Given the description of an element on the screen output the (x, y) to click on. 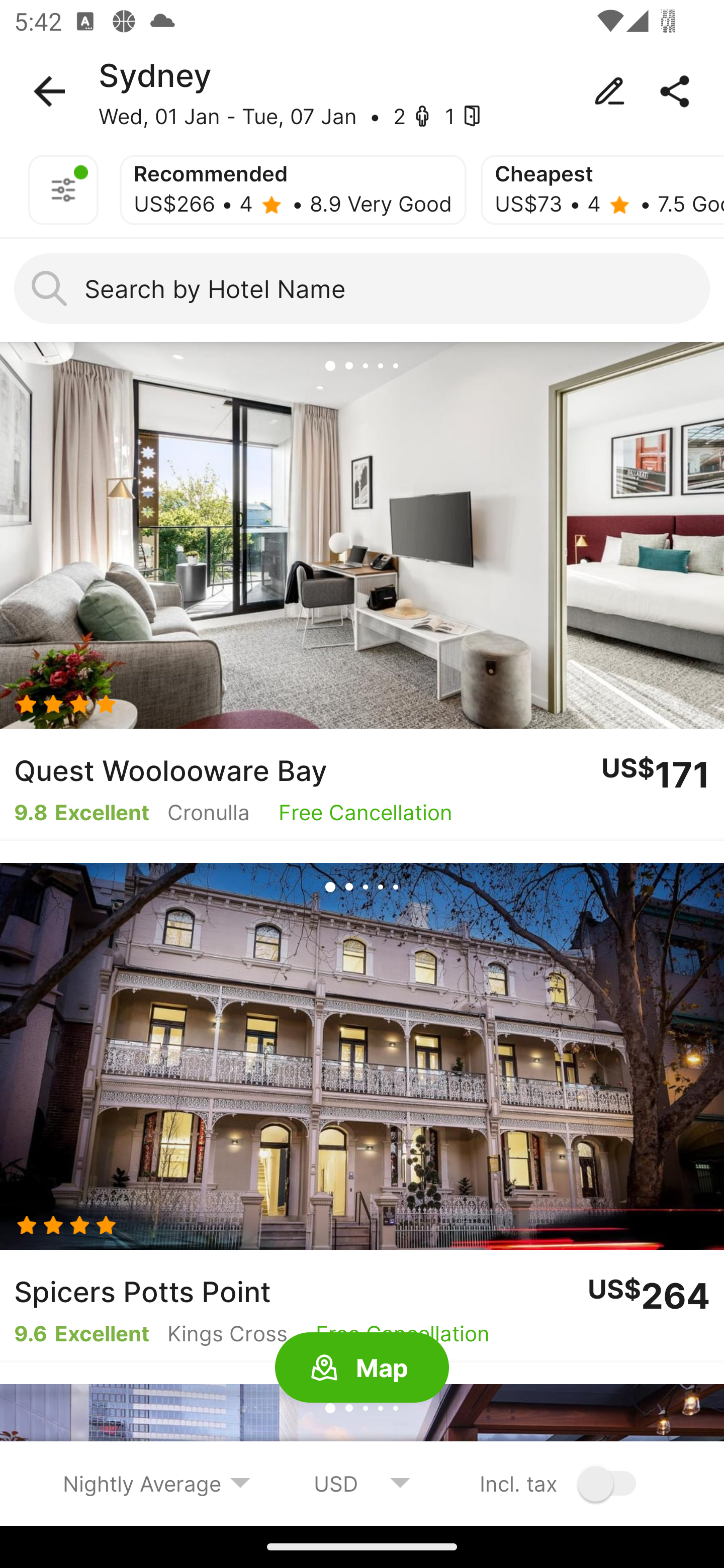
Sydney Wed, 01 Jan - Tue, 07 Jan  •  2 -  1 - (361, 91)
Recommended  US$266  • 4 - • 8.9 Very Good (292, 190)
Cheapest US$73  • 4 - • 7.5 Good (602, 190)
Search by Hotel Name  (361, 288)
Map  (361, 1367)
Nightly Average (156, 1482)
USD (361, 1482)
